Given the description of an element on the screen output the (x, y) to click on. 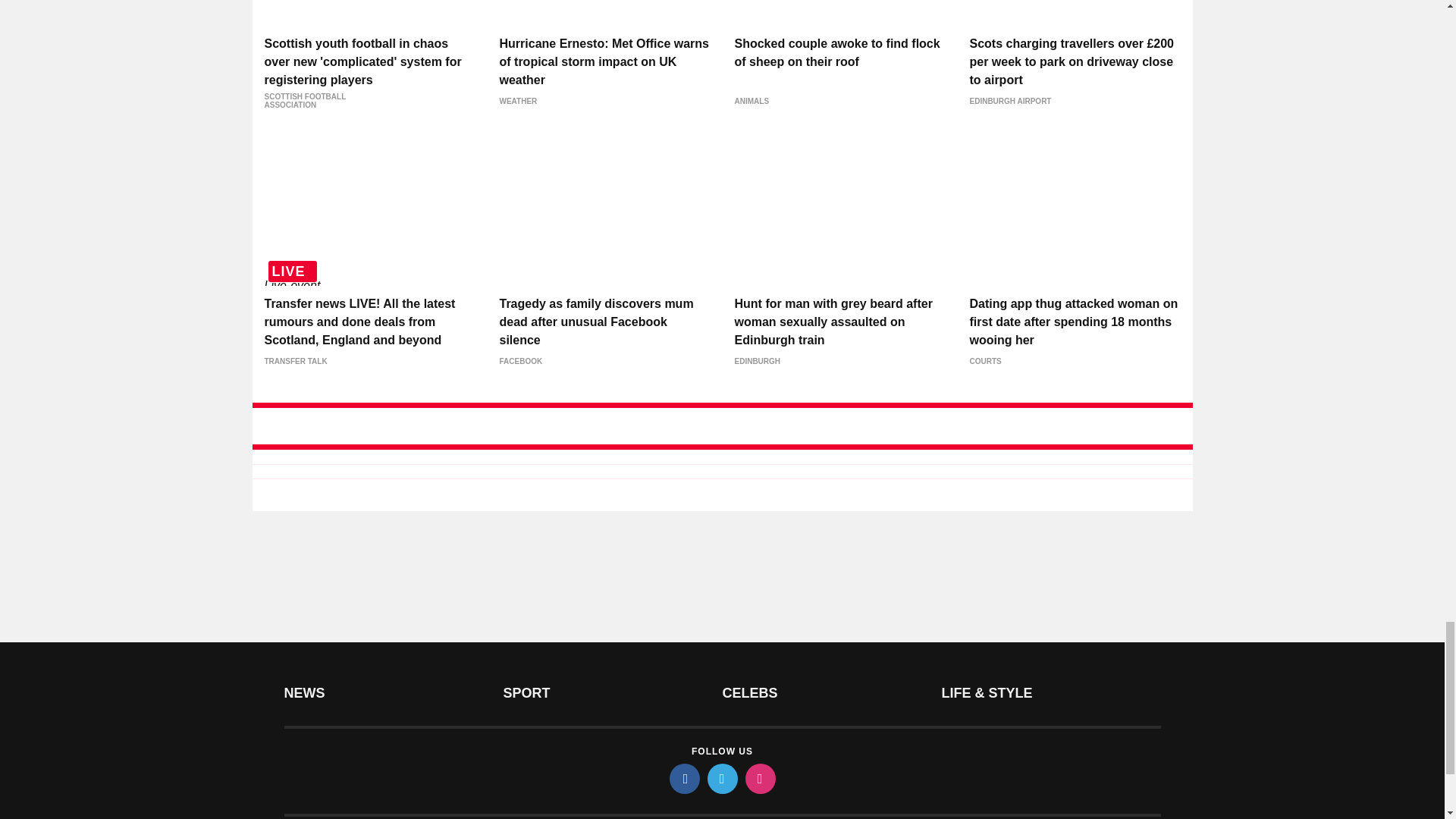
facebook (683, 778)
twitter (721, 778)
instagram (759, 778)
